Given the description of an element on the screen output the (x, y) to click on. 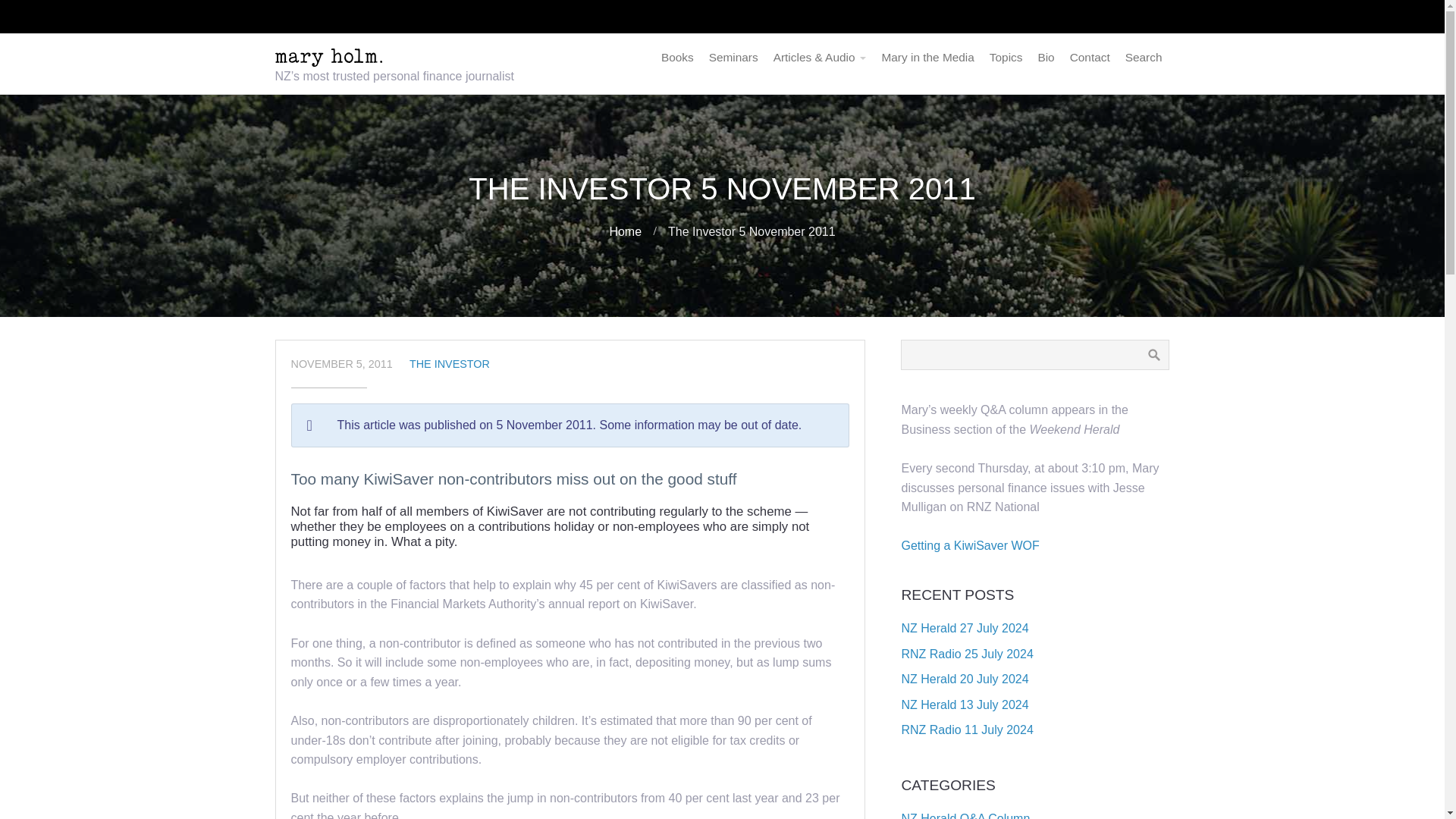
Search (1144, 57)
Bio (1045, 57)
Getting a KiwiSaver WOF (970, 545)
NZ Herald 20 July 2024 (964, 678)
Topics (1005, 57)
NZ Herald 13 July 2024 (964, 704)
NZ Herald 27 July 2024 (964, 627)
Search (1153, 354)
THE INVESTOR (449, 363)
Books (677, 57)
Mary in the Media (927, 57)
Contact (1090, 57)
Search (1144, 57)
Seminars (733, 57)
RNZ Radio 11 July 2024 (966, 729)
